Given the description of an element on the screen output the (x, y) to click on. 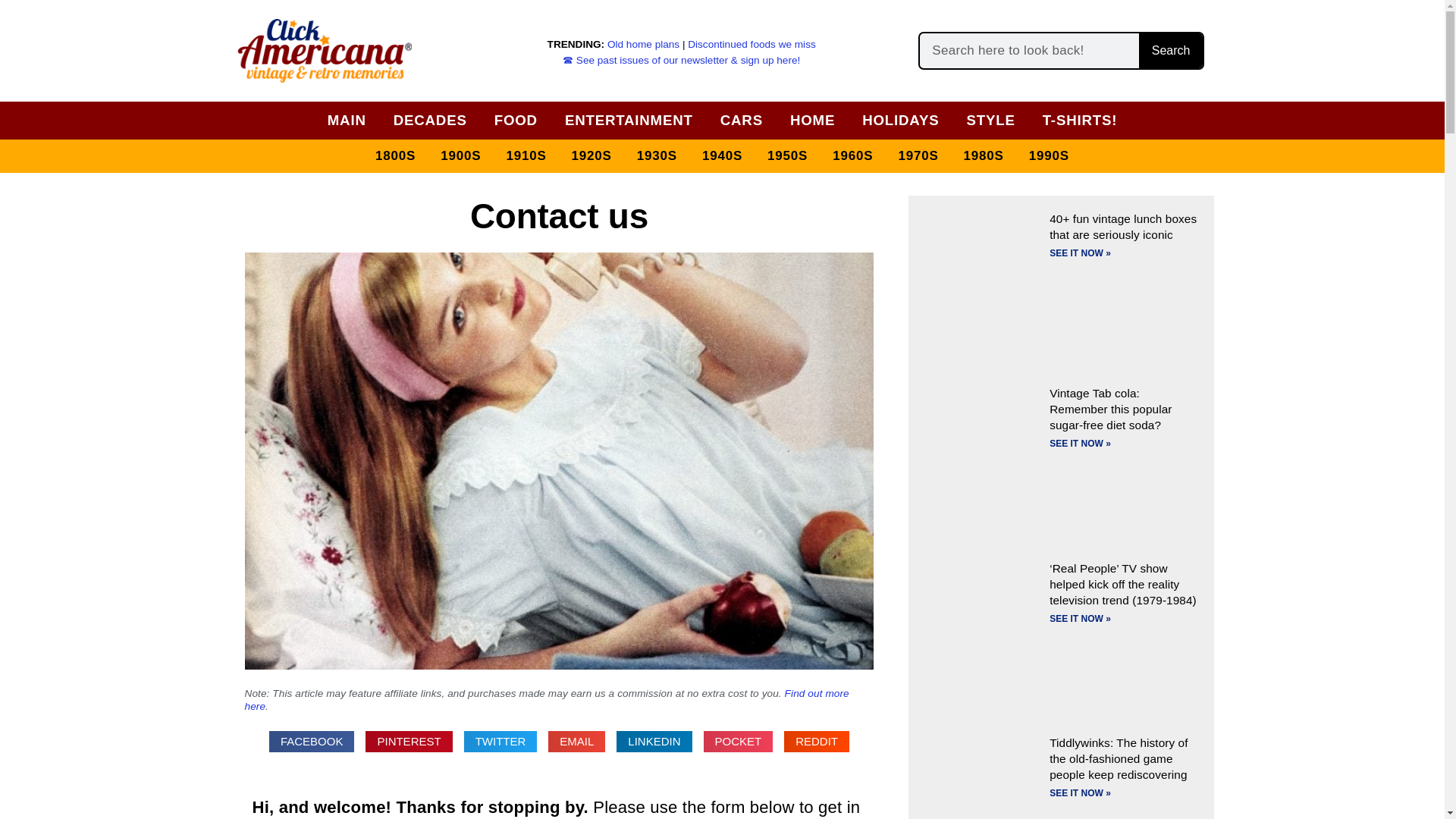
1920S (591, 155)
HOLIDAYS (900, 120)
1930S (656, 155)
1910S (525, 155)
1800S (395, 155)
1900S (459, 155)
Search (1170, 50)
1980S (984, 155)
DECADES (430, 120)
T-SHIRTS! (1080, 120)
